Given the description of an element on the screen output the (x, y) to click on. 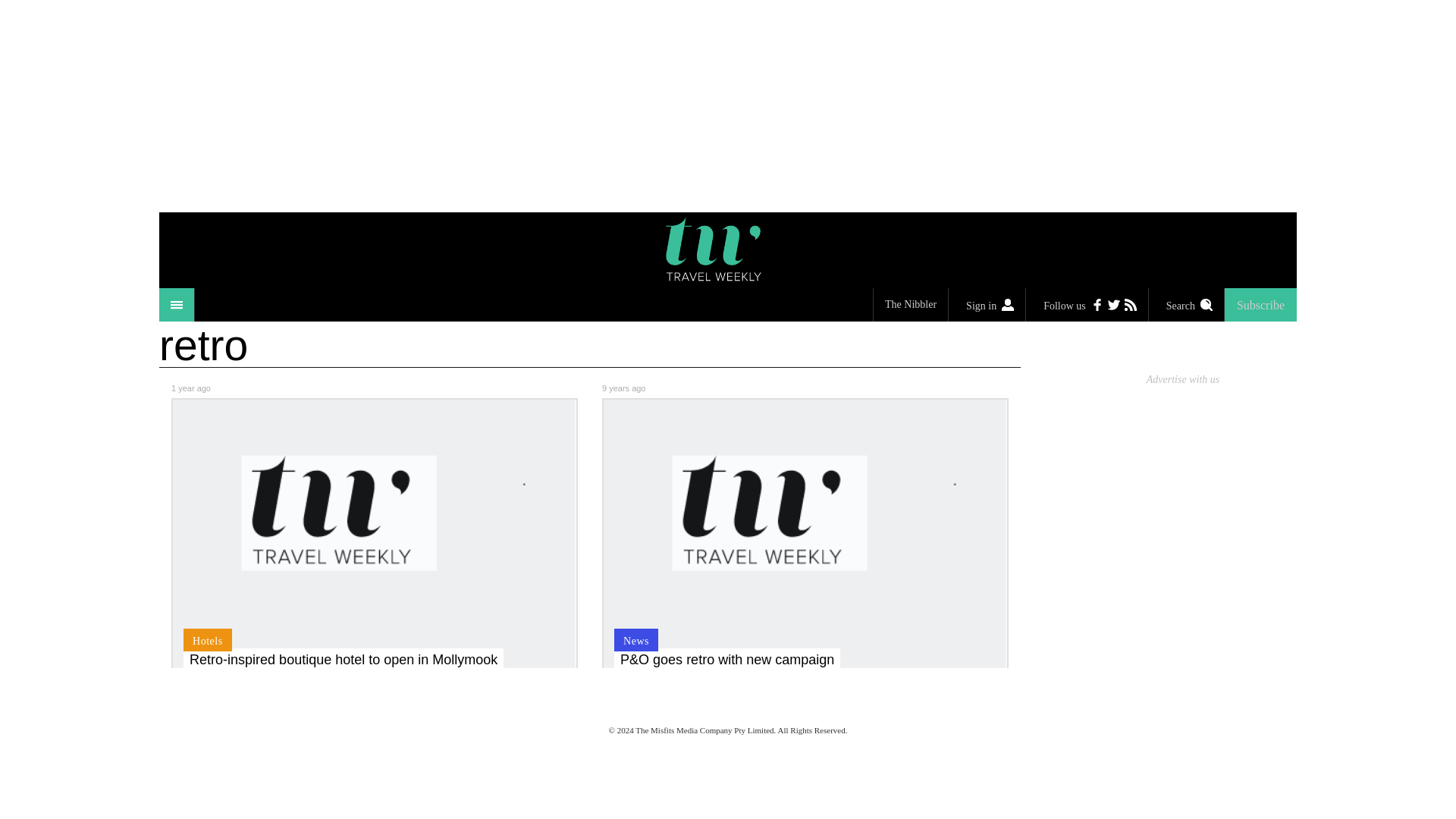
Sign in (987, 304)
Follow us (1087, 304)
Subscribe (1260, 304)
Retro-inspired boutique hotel to open in Mollymook (343, 659)
The Nibbler (910, 304)
Search (1186, 304)
